Given the description of an element on the screen output the (x, y) to click on. 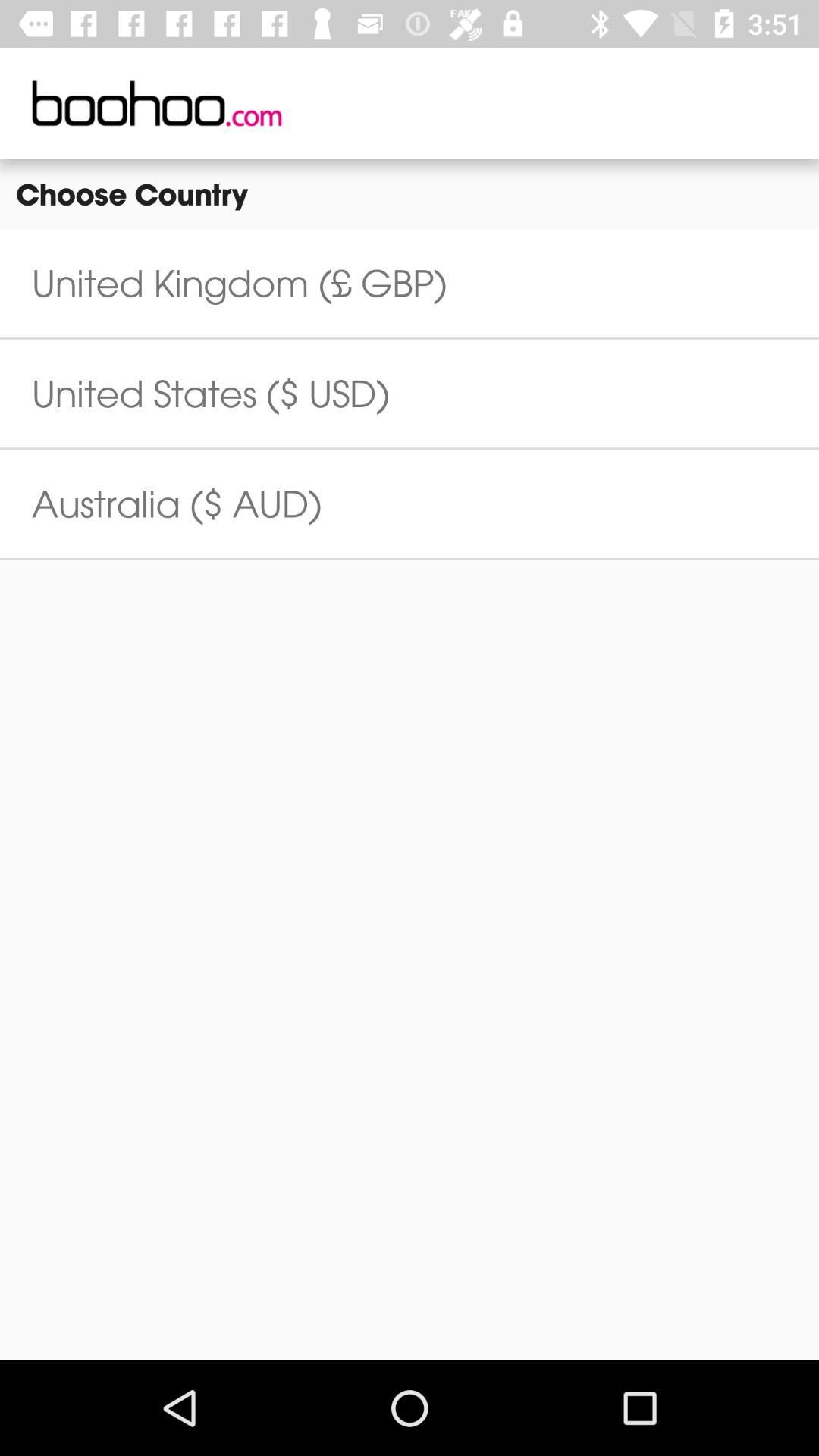
jump to the australia ($ aud) (176, 503)
